Given the description of an element on the screen output the (x, y) to click on. 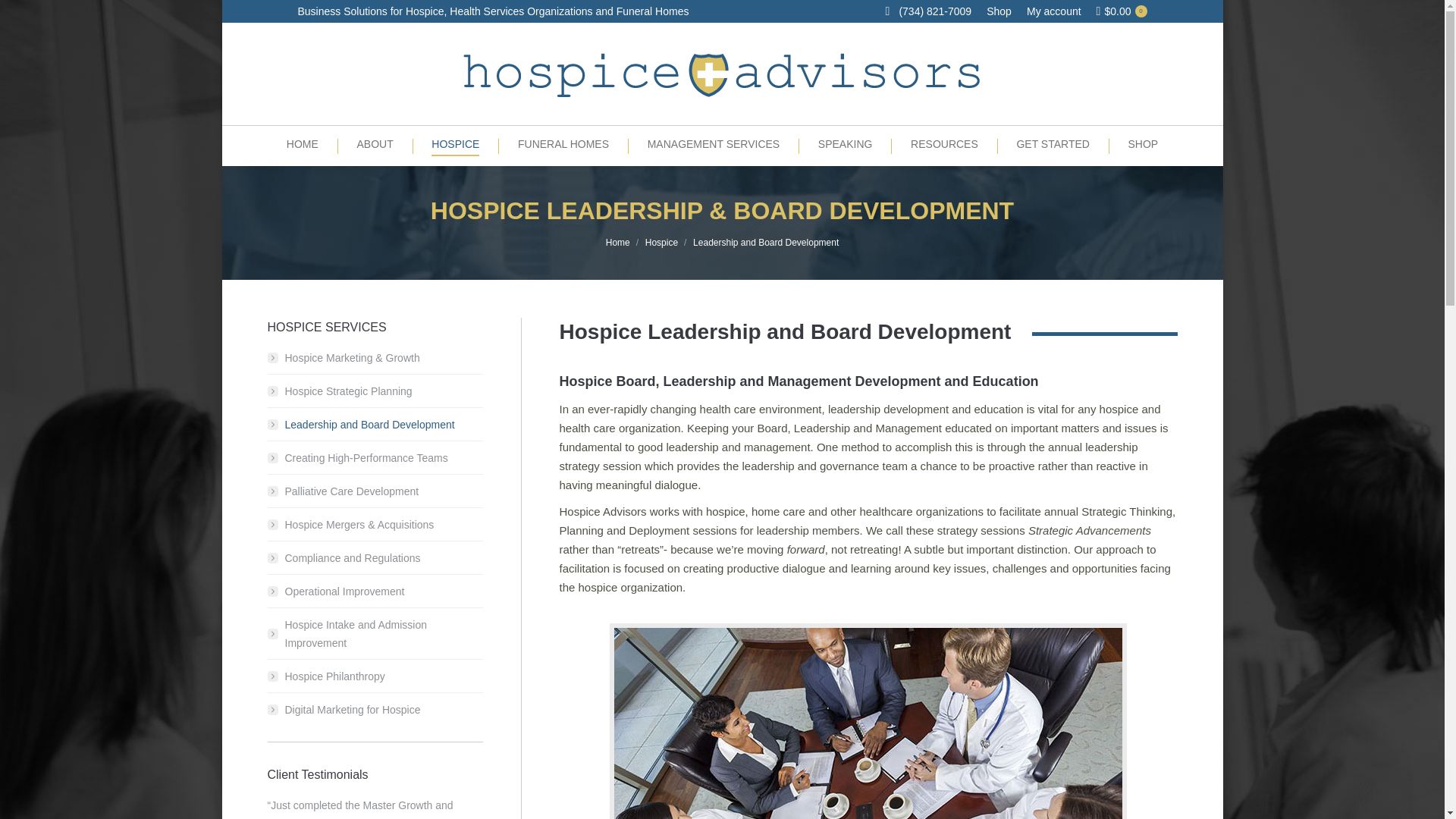
SPEAKING (845, 140)
ABOUT (374, 140)
HOME (302, 140)
FUNERAL HOMES (562, 140)
HOSPICE (454, 140)
Home (617, 242)
RESOURCES (944, 140)
Hospice (661, 242)
My account (1053, 11)
Shop (999, 11)
